Given the description of an element on the screen output the (x, y) to click on. 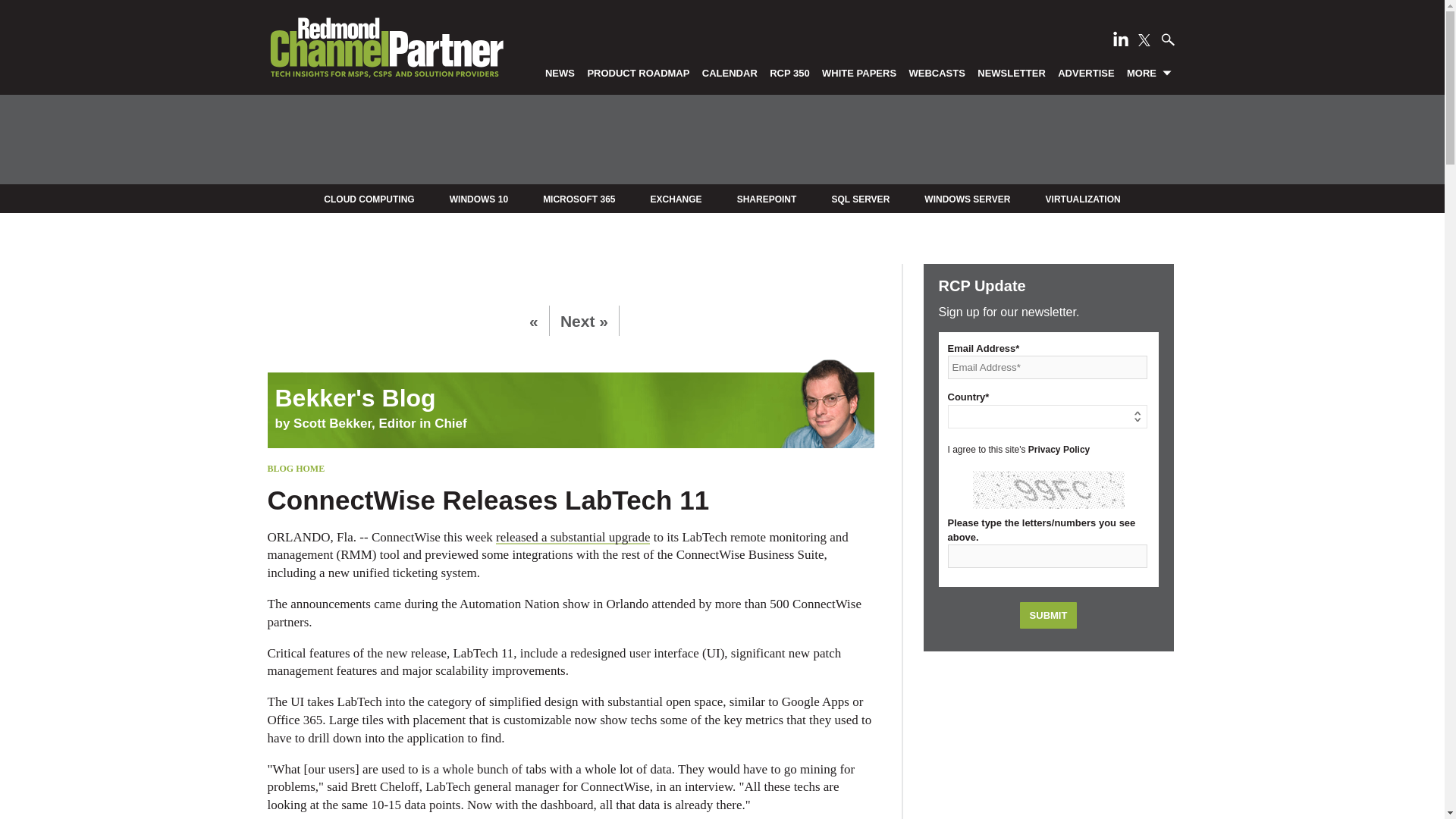
WINDOWS SERVER (967, 199)
VIRTUALIZATION (1083, 199)
released a substantial upgrade (572, 536)
NEWS (559, 72)
CLOUD COMPUTING (368, 199)
CALENDAR (729, 72)
WINDOWS 10 (478, 199)
3rd party ad content (1047, 742)
SHAREPOINT (766, 199)
PRODUCT ROADMAP (638, 72)
